Given the description of an element on the screen output the (x, y) to click on. 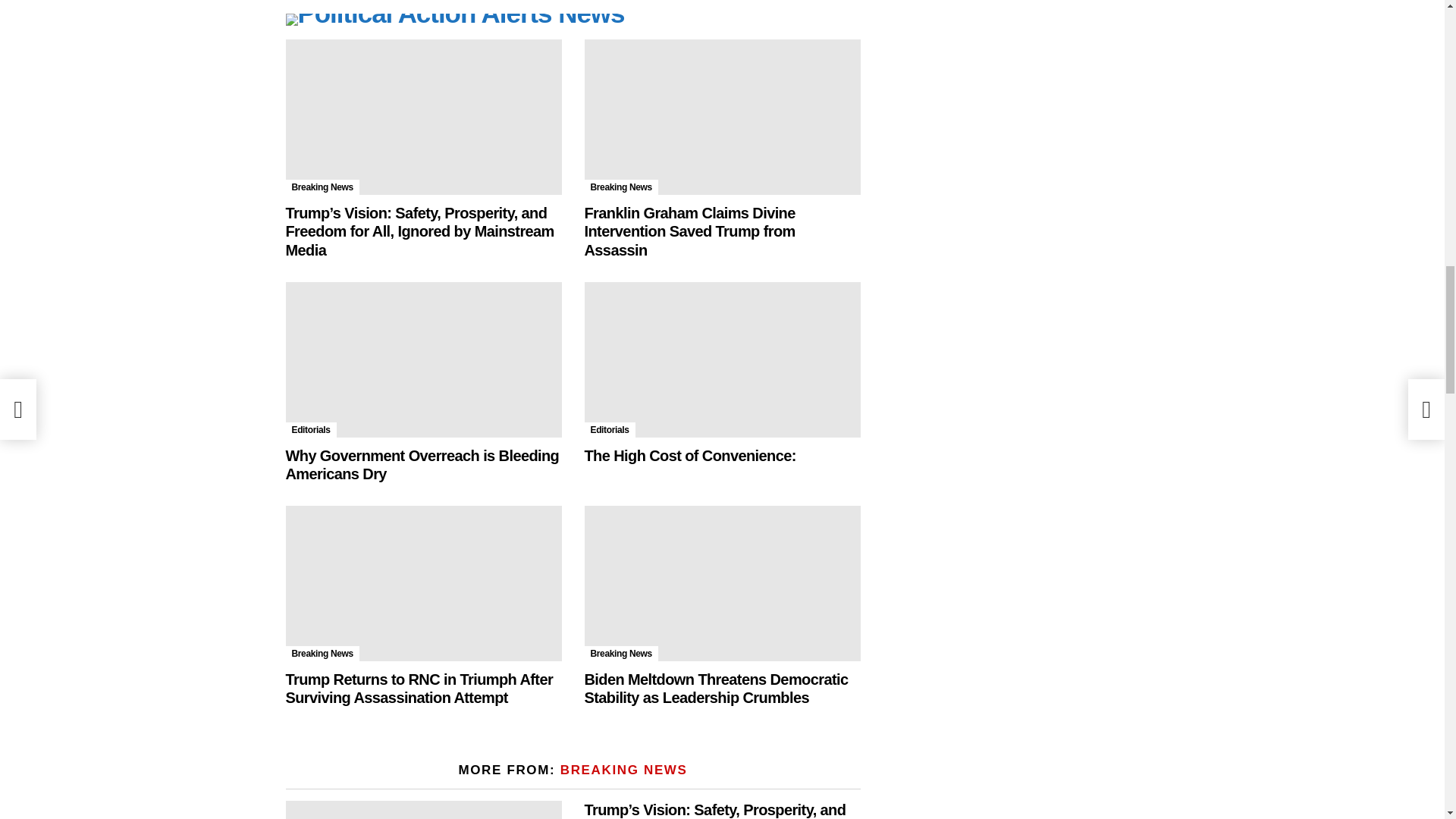
Why Government Overreach is Bleeding Americans Dry (422, 359)
The High Cost of Convenience: (721, 359)
